Given the description of an element on the screen output the (x, y) to click on. 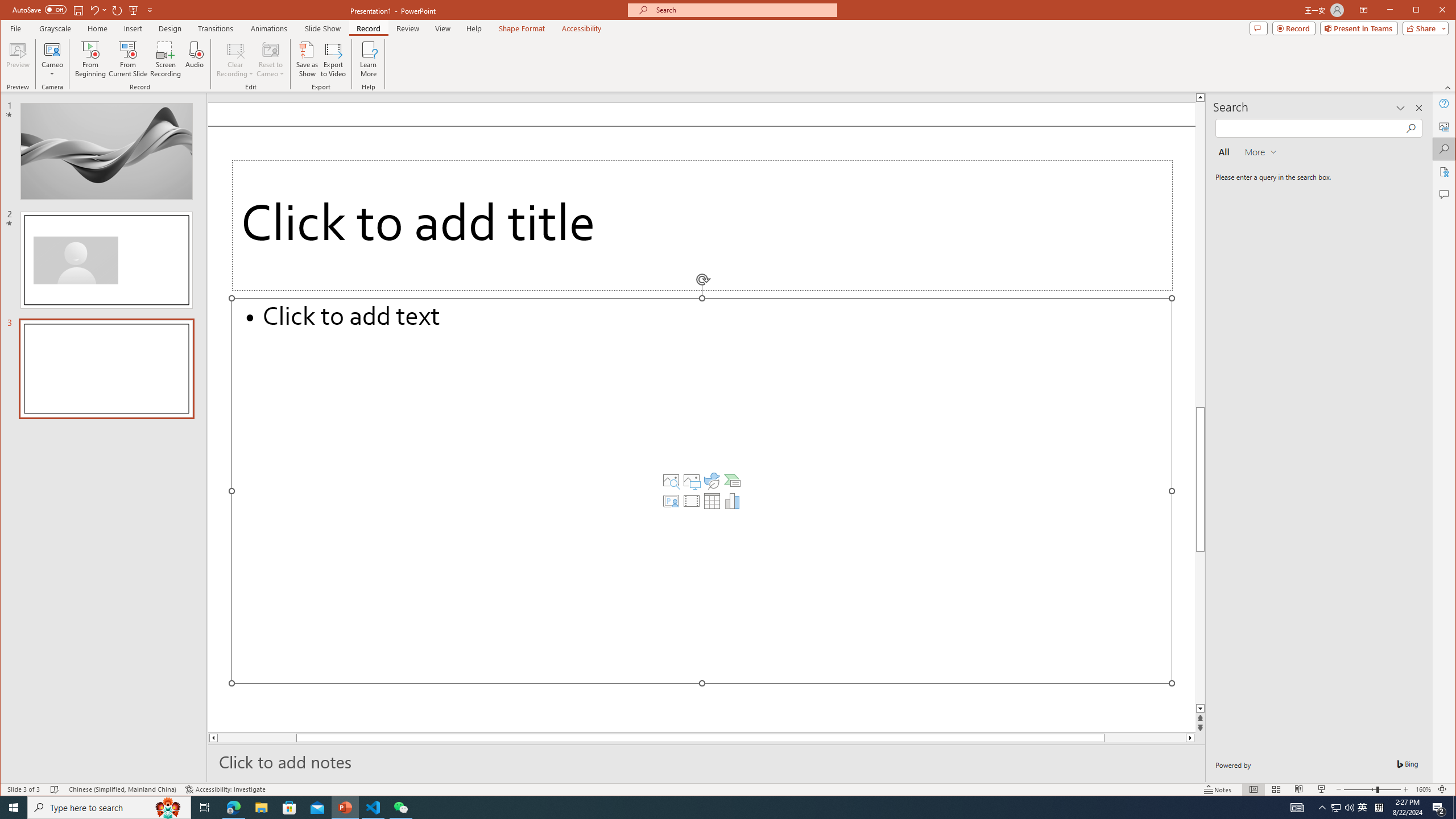
Zoom Out (1359, 789)
Microsoft Store (289, 807)
Microsoft search (742, 10)
Save (77, 9)
Start (13, 807)
Notification Chevron (1322, 807)
Search (1444, 148)
WeChat - 1 running window (400, 807)
Pictures (691, 480)
Animations (269, 28)
Show desktop (1454, 807)
Home (97, 28)
Stock Images (670, 480)
